Given the description of an element on the screen output the (x, y) to click on. 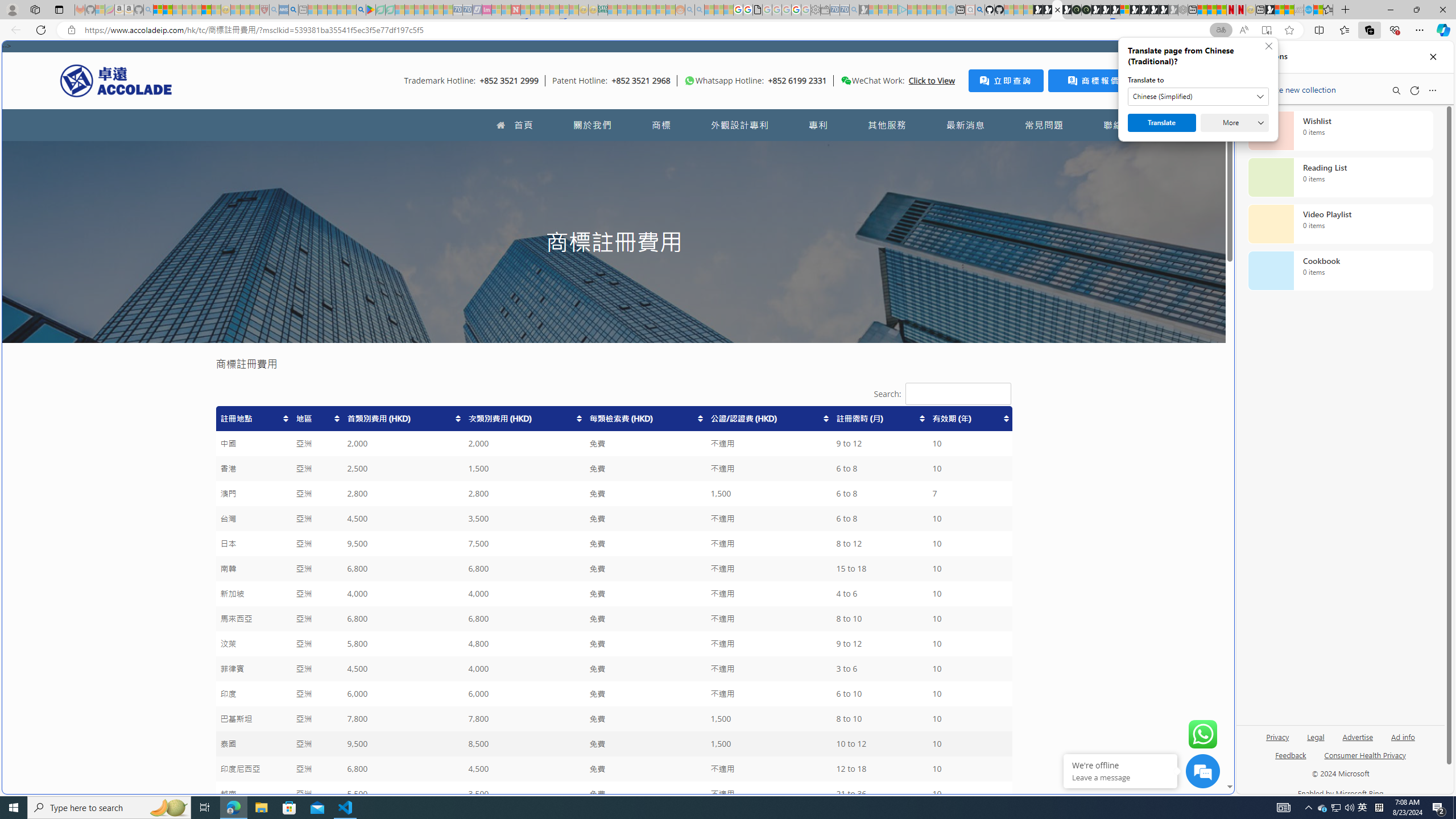
Show translate options (1220, 29)
Class: row-15 odd (613, 769)
7 (969, 493)
1,500 (768, 743)
2,500 (403, 468)
